Given the description of an element on the screen output the (x, y) to click on. 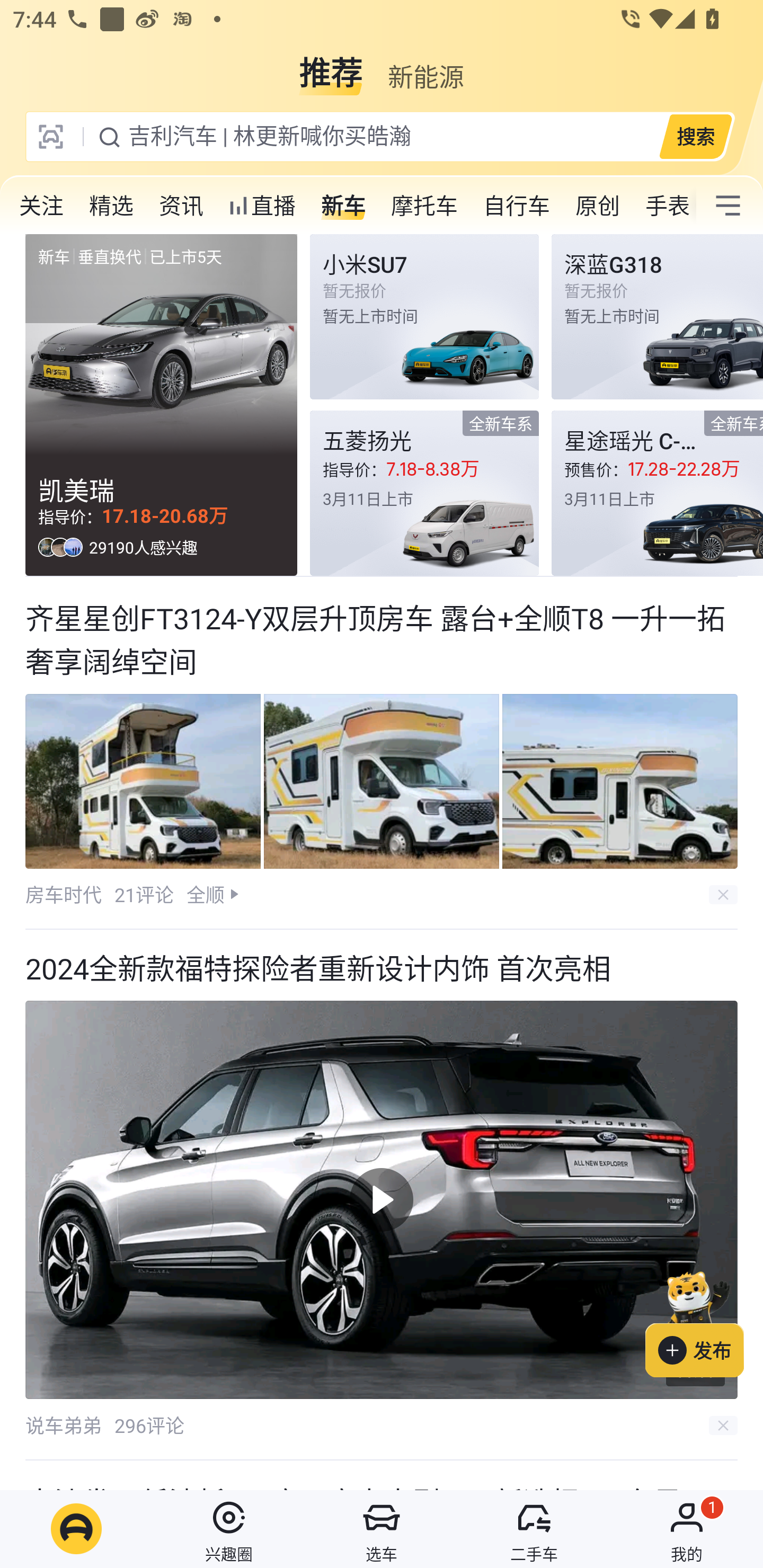
推荐 (330, 65)
新能源 (425, 65)
搜索 (695, 136)
关注 (41, 205)
精选 (111, 205)
资讯 (180, 205)
直播 (261, 205)
新车 (343, 205)
摩托车 (424, 205)
自行车 (516, 205)
原创 (597, 205)
手表 (663, 205)
 (727, 205)
暂无报价 (423, 316)
暂无报价 (657, 316)
全新车系指导价：7.18-8.38万 (423, 492)
全新车系预售价：17.28-22.28万 (657, 492)
齐星星创FT3124-Y双层升顶房车 露台+全顺T8 一升一拓奢享阔绰空间 房车时代 21评论 全顺 (381, 753)
全顺 (205, 894)
2024全新款福特探险者重新设计内饰 首次亮相  05:50 说车弟弟 296评论 (381, 1194)
发布 (704, 1320)
 兴趣圈 (228, 1528)
 选车 (381, 1528)
 二手车 (533, 1528)
 我的 (686, 1528)
